Given the description of an element on the screen output the (x, y) to click on. 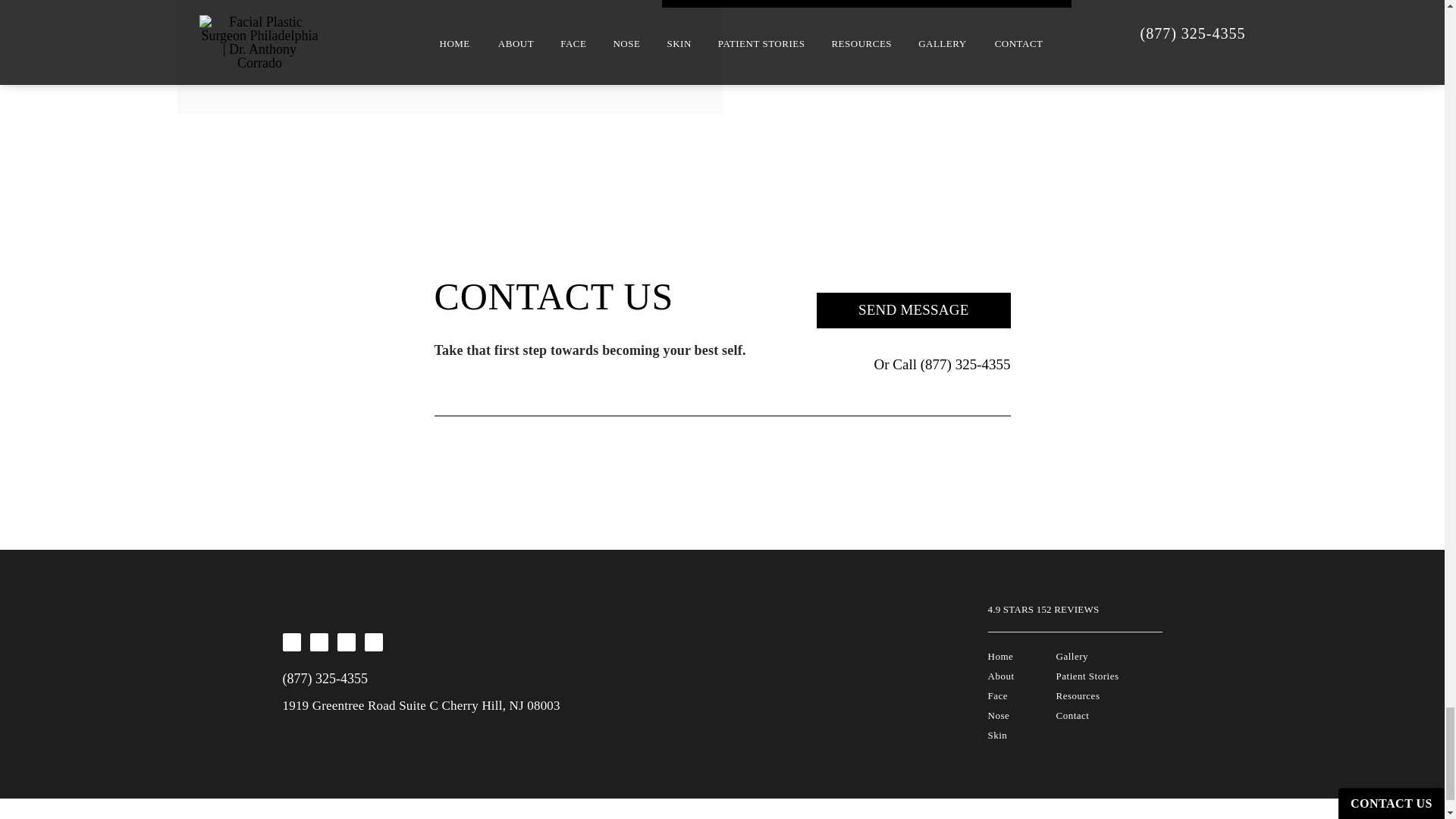
Corrado Facial Plastic Surgery on Youtube (372, 642)
Corrado Facial Plastic Surgery on Facebook (290, 642)
Corrado Facial Plastic Surgery on Twitter (345, 642)
Corrado Facial Plastic Surgery on Instagram (317, 642)
